Given the description of an element on the screen output the (x, y) to click on. 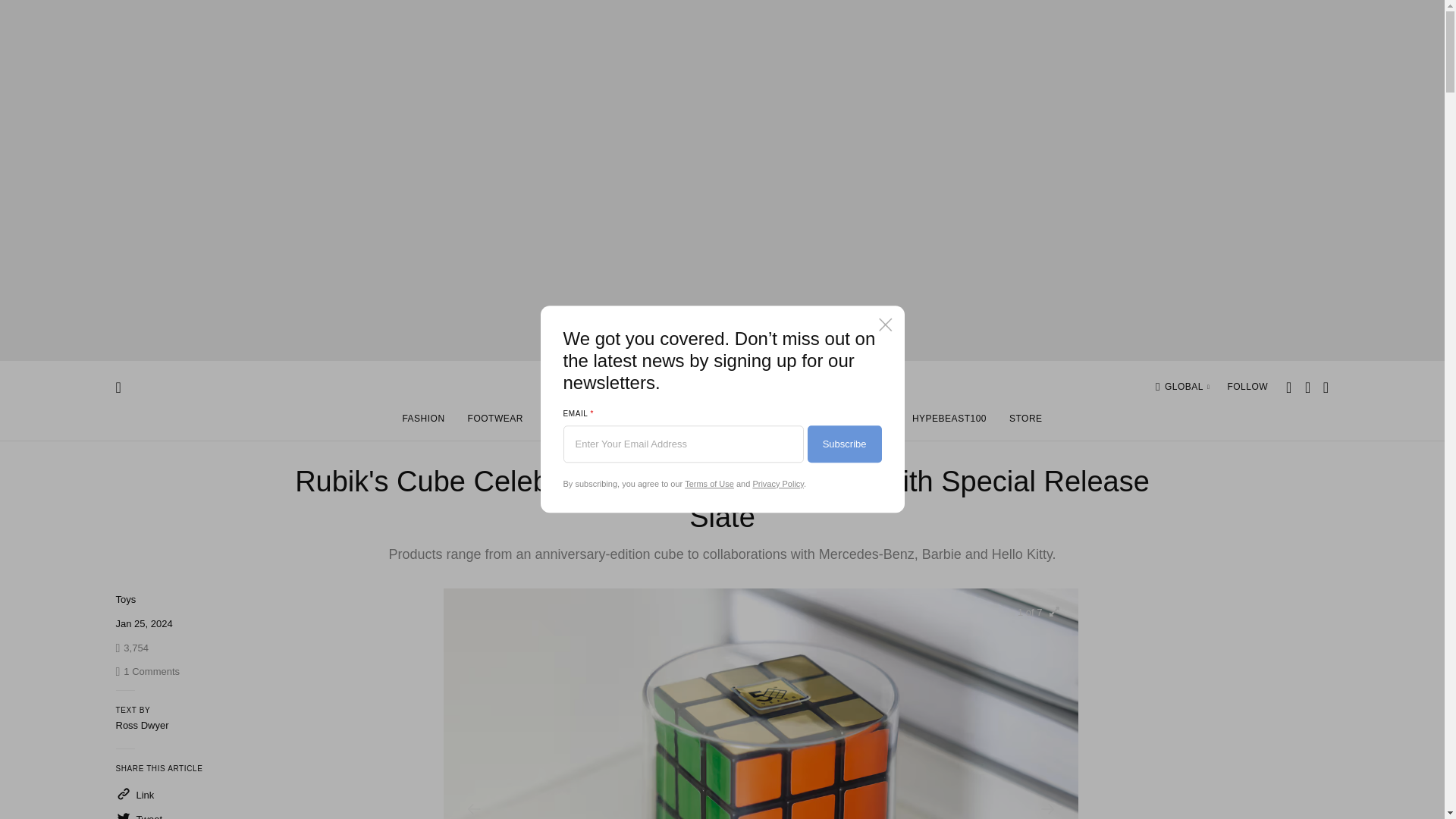
FOLLOW (1247, 387)
GLOBAL (1187, 387)
3rd party ad content (1213, 703)
ART (555, 421)
Toys (125, 599)
FOOTWEAR (495, 421)
Ross Dwyer (141, 725)
Toys (147, 671)
LIFESTYLE (125, 599)
FASHION (727, 421)
DESIGN (422, 421)
HYPEBEAST100 (606, 421)
BRANDS (949, 421)
